Given the description of an element on the screen output the (x, y) to click on. 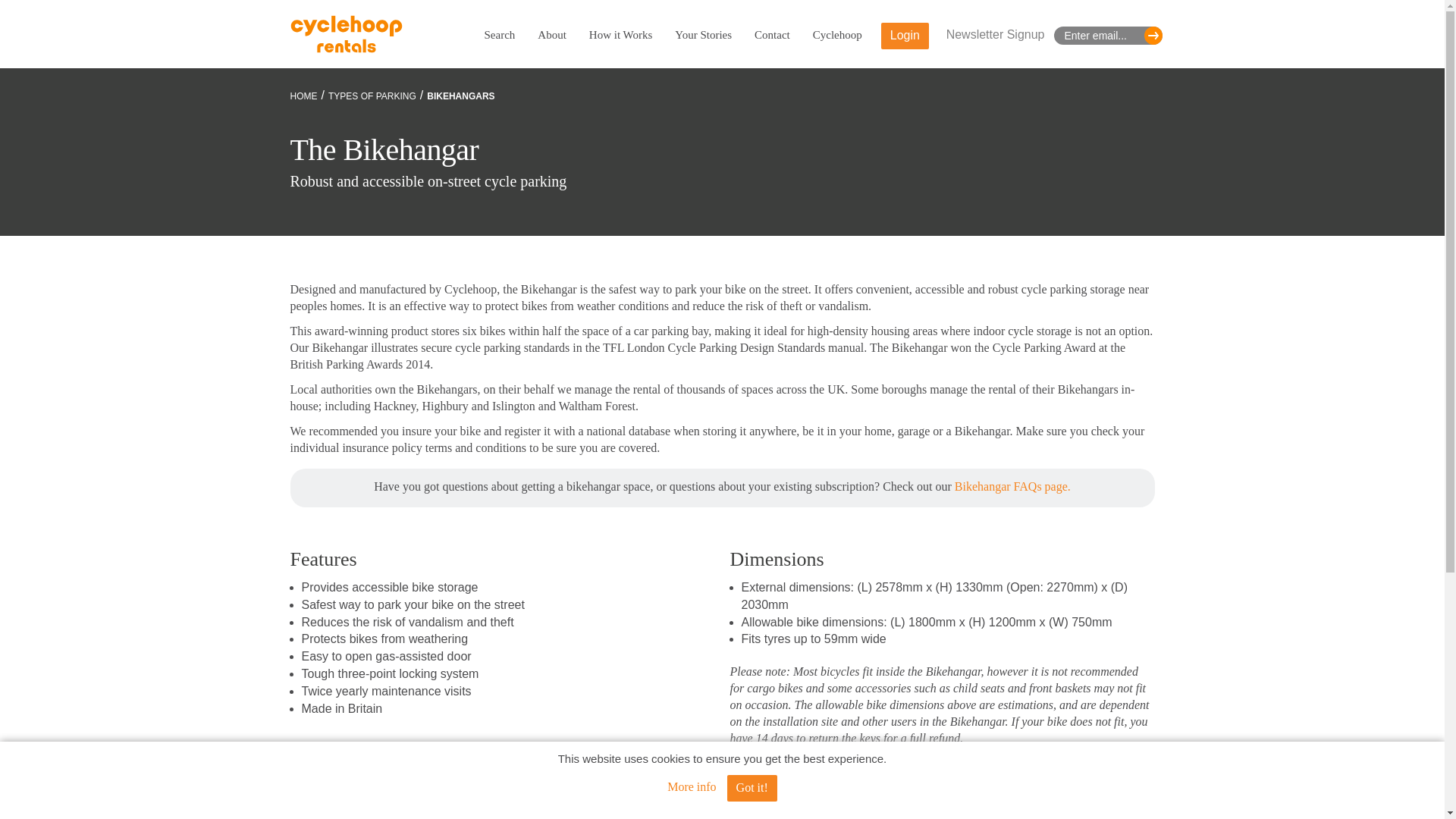
Your Stories (703, 34)
Search (499, 34)
HOME (303, 95)
TYPES OF PARKING (372, 95)
Login (904, 35)
About (551, 34)
Bikehangar FAQs page. (1012, 486)
Cyclehoop (836, 34)
More info (691, 786)
How it Works (620, 34)
